Given the description of an element on the screen output the (x, y) to click on. 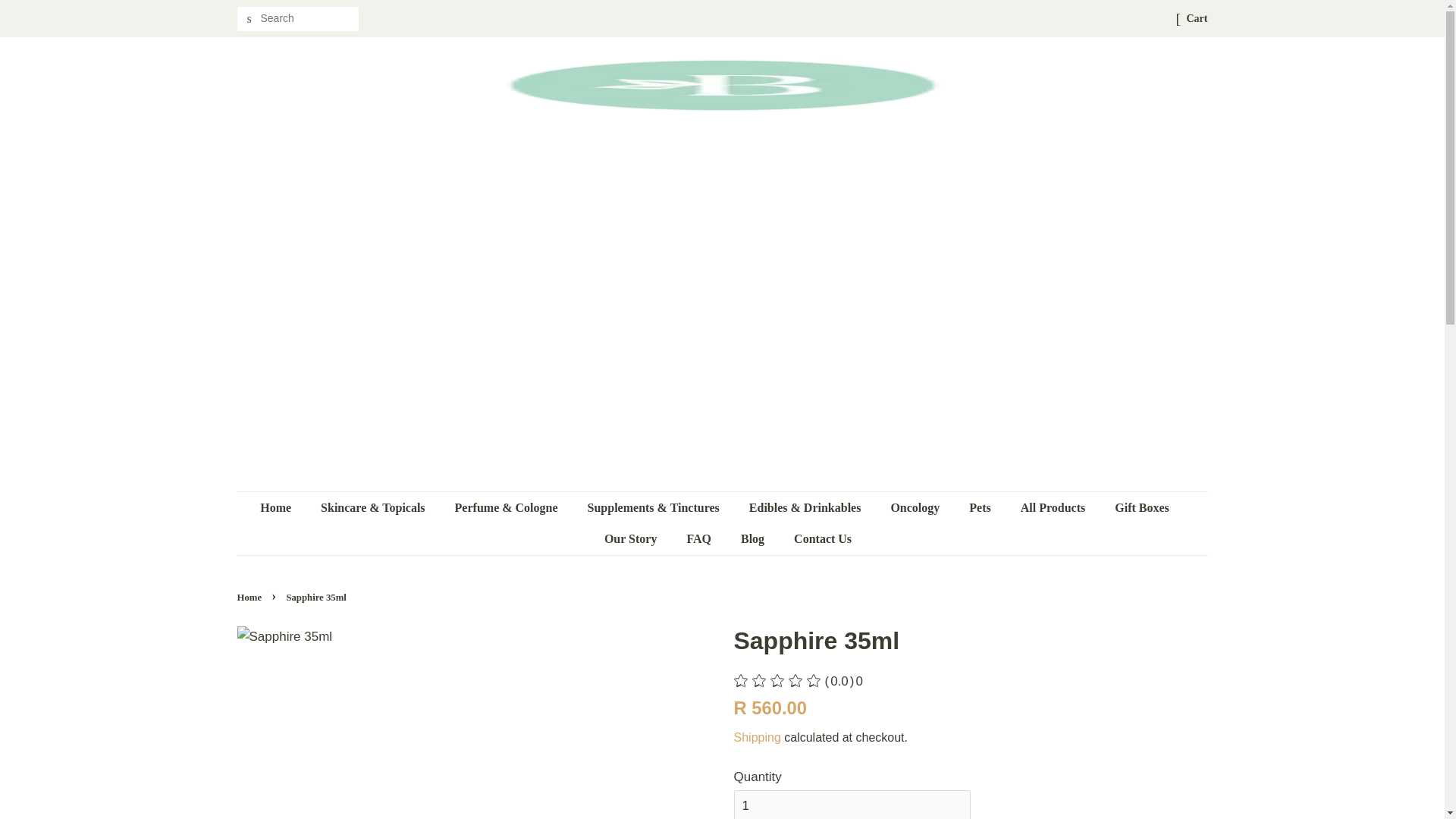
Pets (982, 507)
Shipping (756, 737)
Back to the frontpage (249, 597)
Search (247, 18)
Oncology (917, 507)
1 (852, 804)
Blog (753, 538)
Home (282, 507)
